Given the description of an element on the screen output the (x, y) to click on. 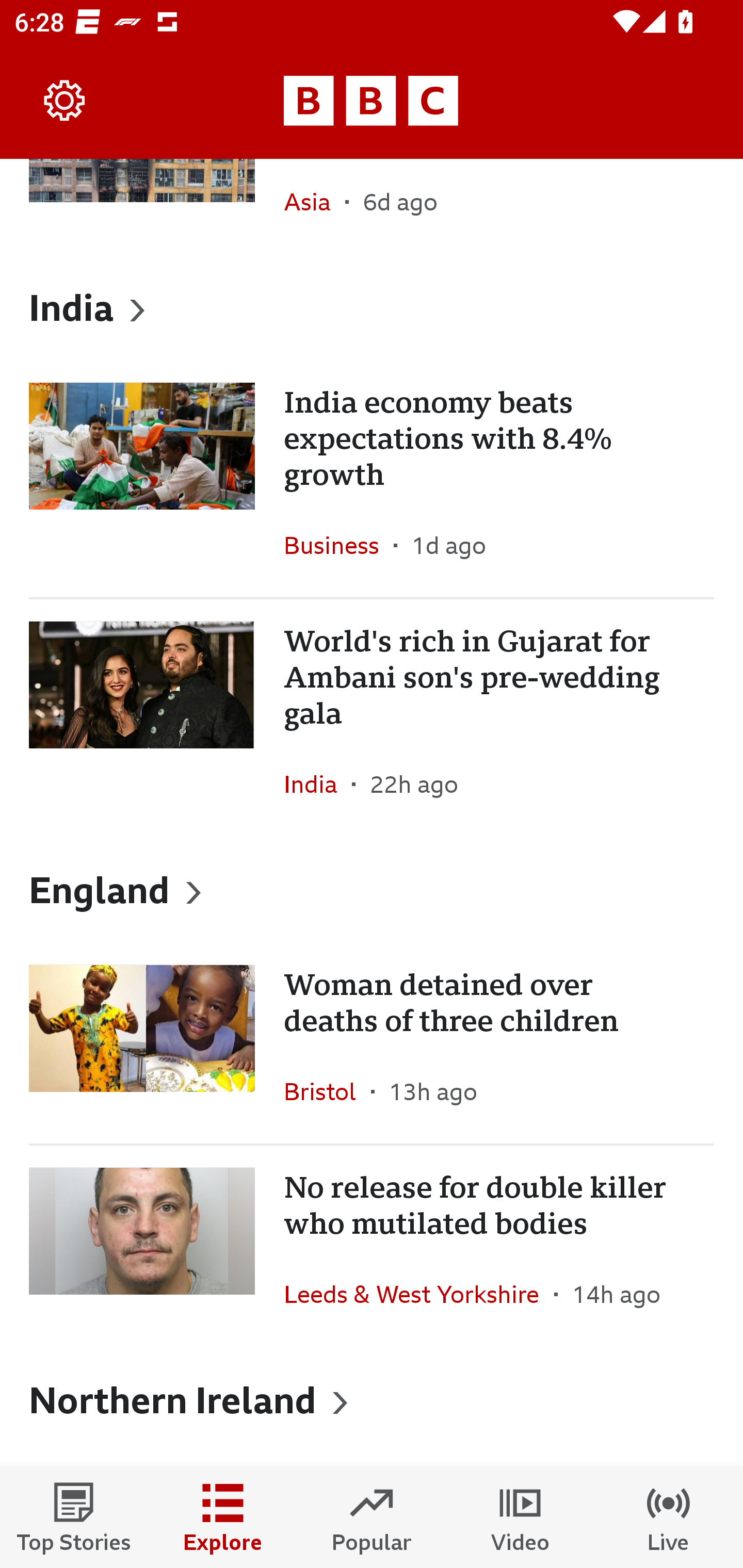
Settings (64, 100)
Asia In the section Asia 6d ago 6 Days ago (371, 206)
Asia In the section Asia (314, 206)
India, Heading India    (371, 307)
Business In the section Business (338, 544)
India In the section India (317, 783)
England, Heading England    (371, 888)
Bristol In the section Bristol (326, 1091)
Northern Ireland, Heading Northern Ireland    (371, 1399)
Top Stories (74, 1517)
Popular (371, 1517)
Video (519, 1517)
Live (668, 1517)
